Given the description of an element on the screen output the (x, y) to click on. 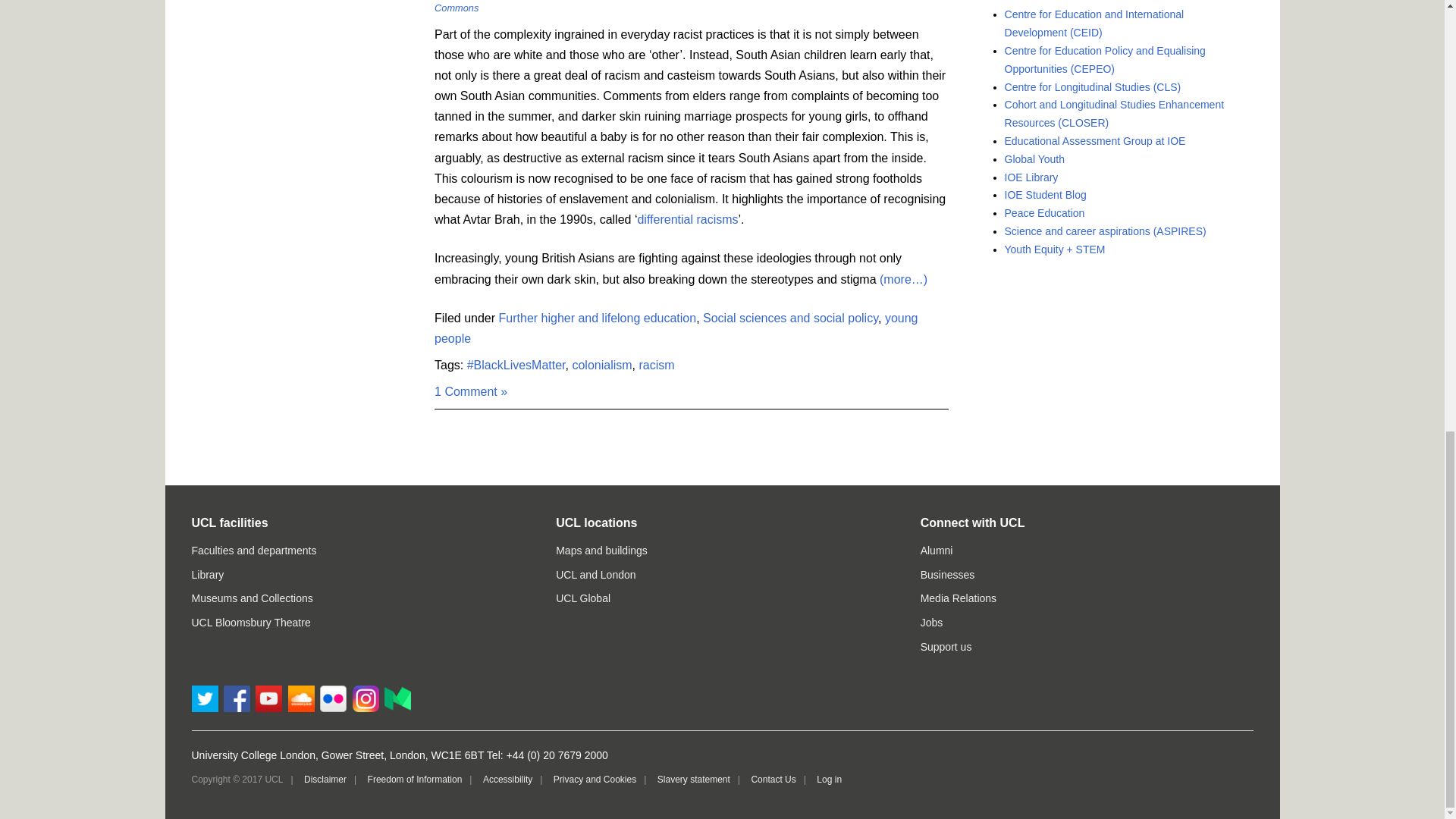
differential racisms (687, 219)
colonialism (601, 364)
Further higher and lifelong education (598, 318)
Creative Commons (680, 6)
Social sciences and social policy (790, 318)
racism (656, 364)
young people (675, 328)
